Given the description of an element on the screen output the (x, y) to click on. 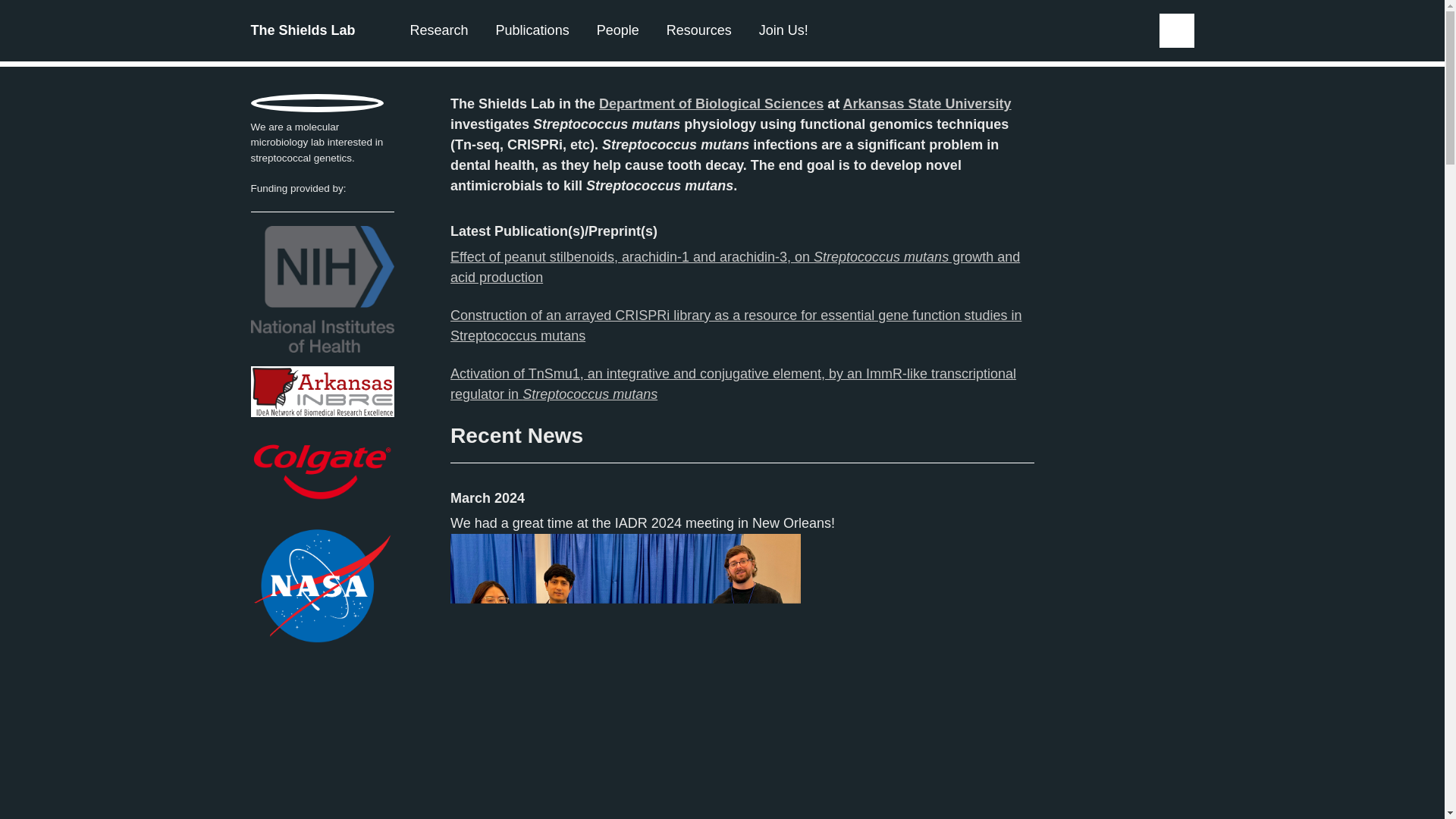
Arkansas State University (927, 103)
Publications (532, 30)
Join Us! (783, 30)
People (617, 30)
Resources (699, 30)
